Given the description of an element on the screen output the (x, y) to click on. 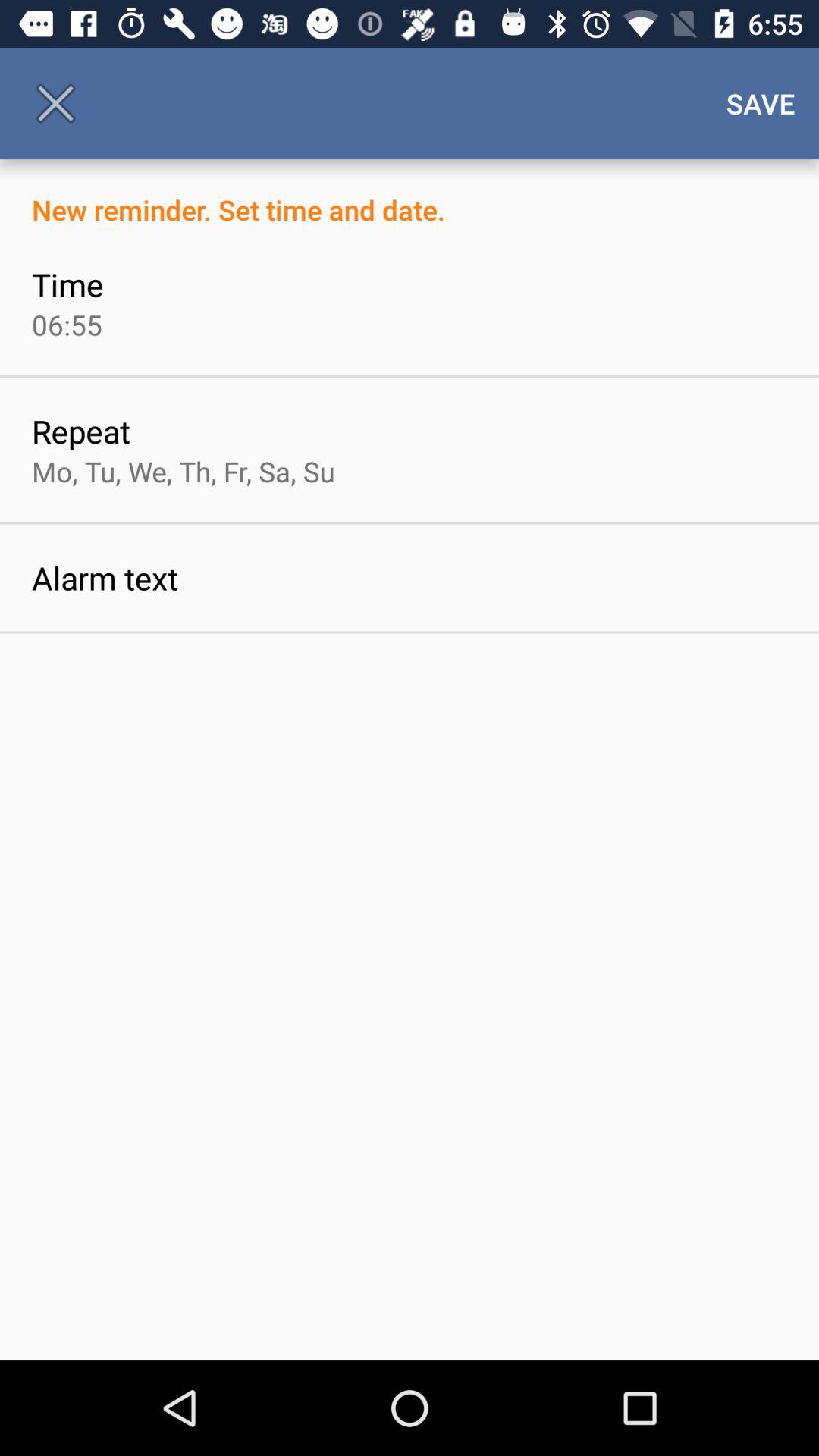
turn off mo tu we item (182, 471)
